Given the description of an element on the screen output the (x, y) to click on. 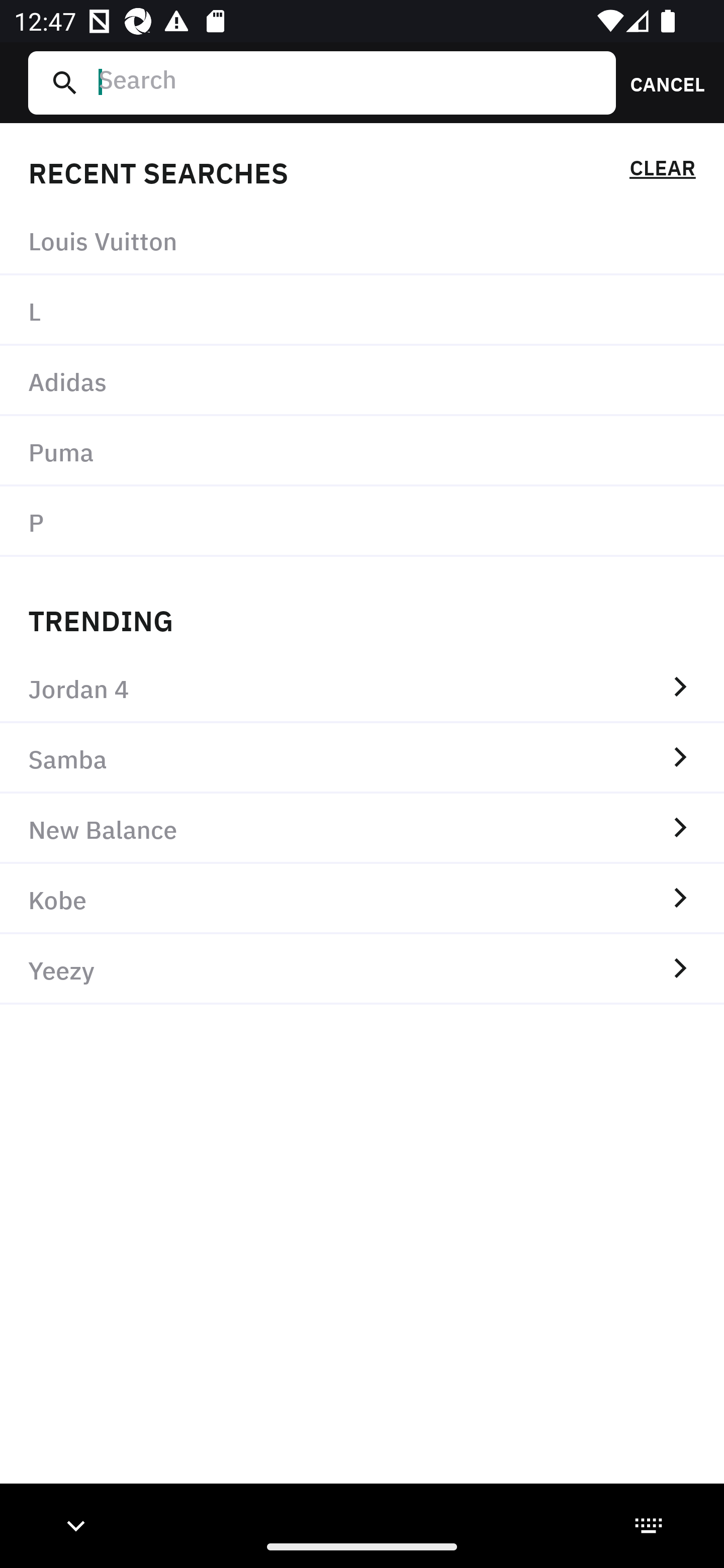
CANCEL (660, 82)
Search (349, 82)
CLEAR (662, 170)
Louis Vuitton (362, 240)
L (362, 310)
Adidas (362, 380)
Puma (362, 450)
P (362, 521)
Jordan 4  (362, 687)
Samba  (362, 757)
New Balance  (362, 828)
Kobe  (362, 898)
Yeezy  (362, 969)
